Given the description of an element on the screen output the (x, y) to click on. 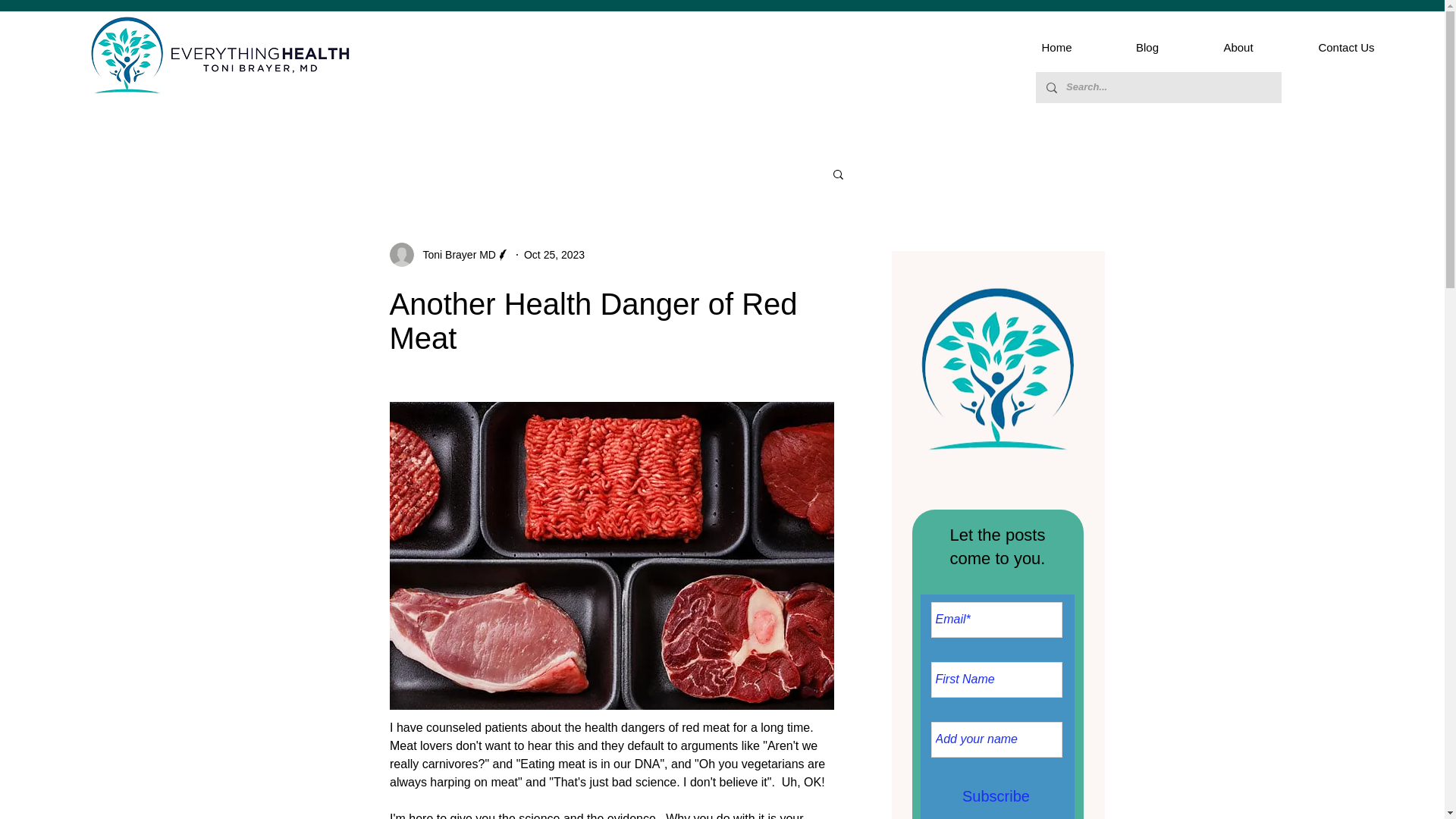
Subscribe (996, 796)
Oct 25, 2023 (554, 254)
Home (1056, 47)
Contact Us (1345, 47)
About (1238, 47)
Toni Brayer MD (454, 254)
Blog (1147, 47)
Toni Brayer MD (450, 254)
